Given the description of an element on the screen output the (x, y) to click on. 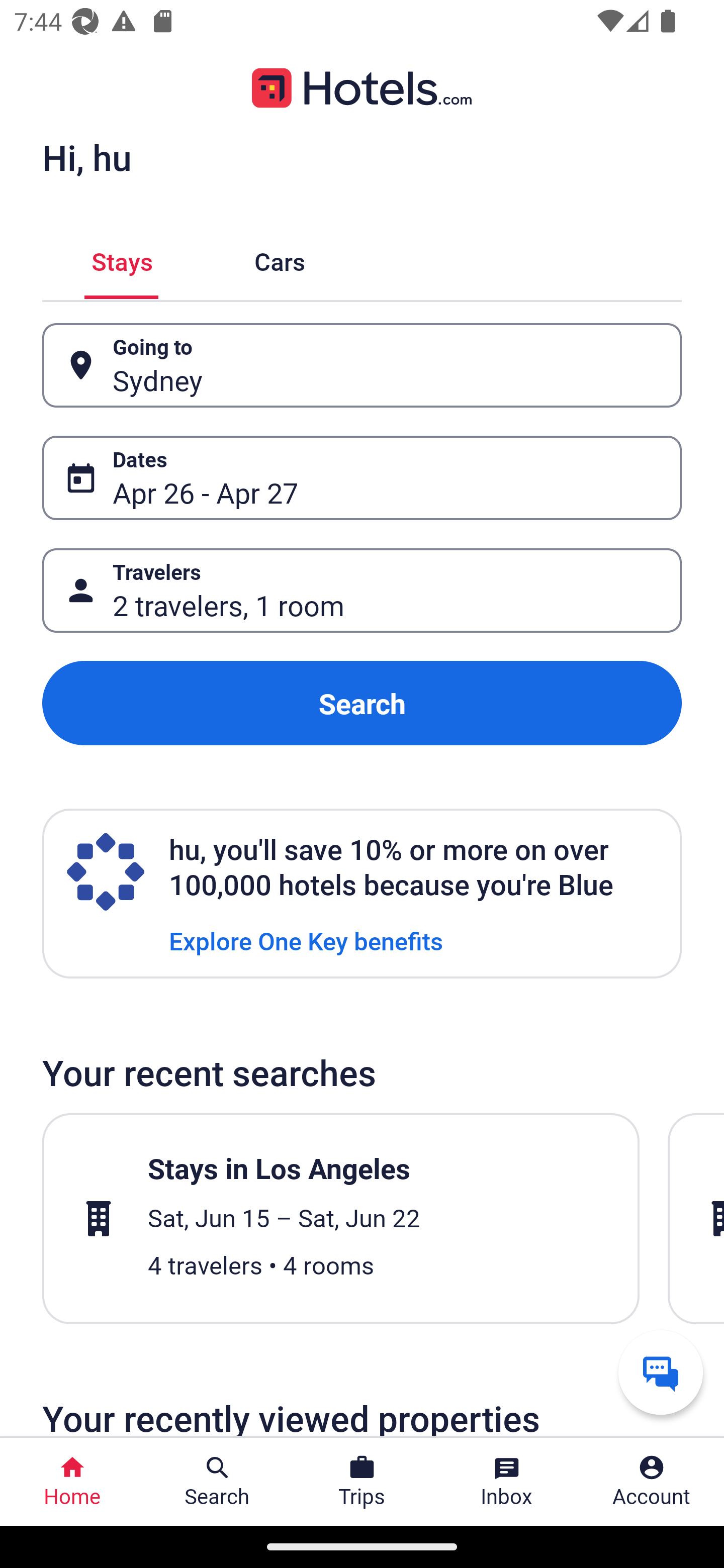
Hi, hu (86, 156)
Cars (279, 259)
Going to Button Sydney (361, 365)
Dates Button Apr 26 - Apr 27 (361, 477)
Travelers Button 2 travelers, 1 room (361, 590)
Search (361, 702)
Get help from a virtual agent (660, 1371)
Search Search Button (216, 1481)
Trips Trips Button (361, 1481)
Inbox Inbox Button (506, 1481)
Account Profile. Button (651, 1481)
